Given the description of an element on the screen output the (x, y) to click on. 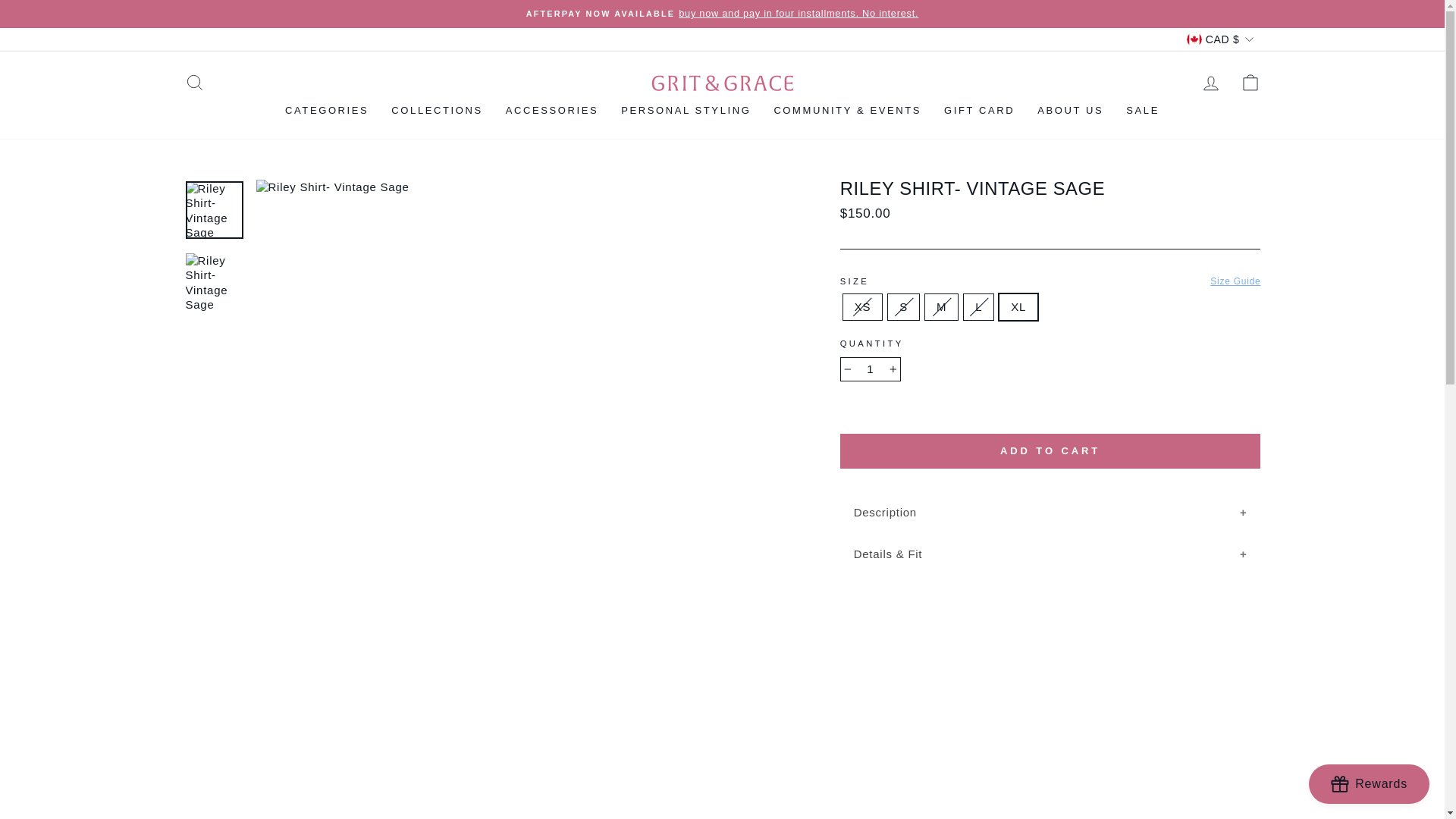
1 (870, 369)
